Given the description of an element on the screen output the (x, y) to click on. 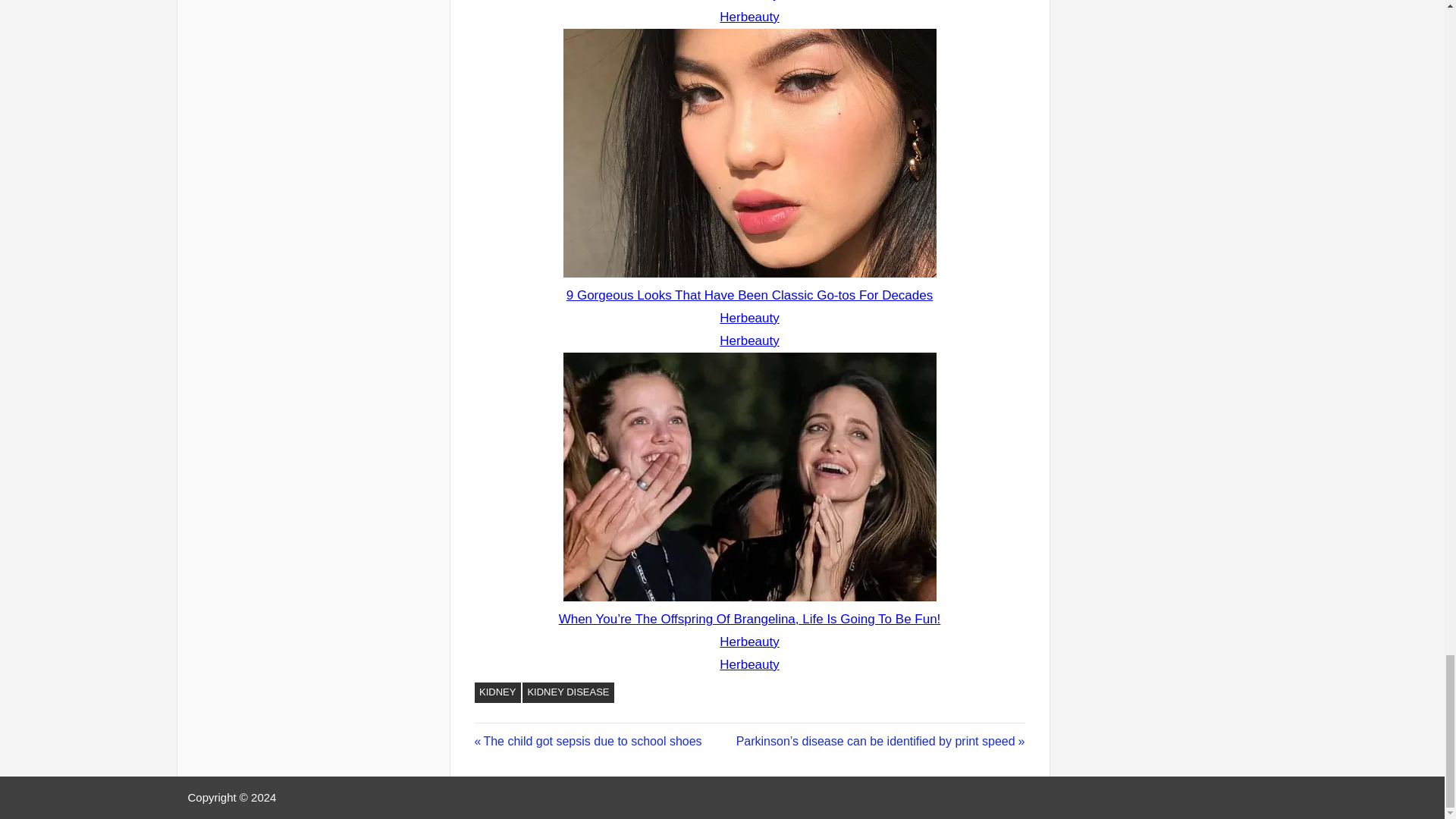
KIDNEY (497, 691)
KIDNEY DISEASE (568, 691)
